Given the description of an element on the screen output the (x, y) to click on. 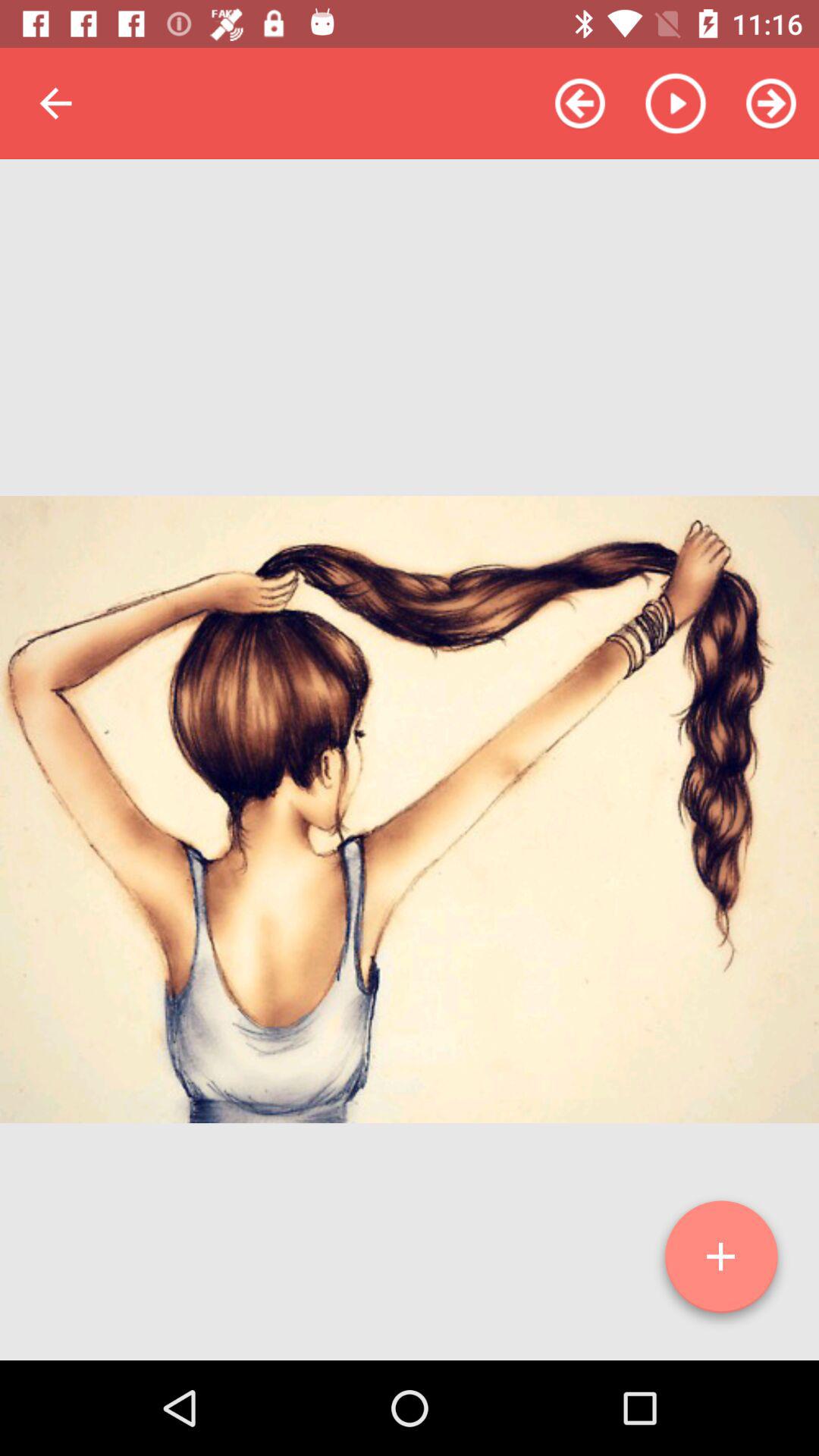
tap item at the top left corner (55, 103)
